Given the description of an element on the screen output the (x, y) to click on. 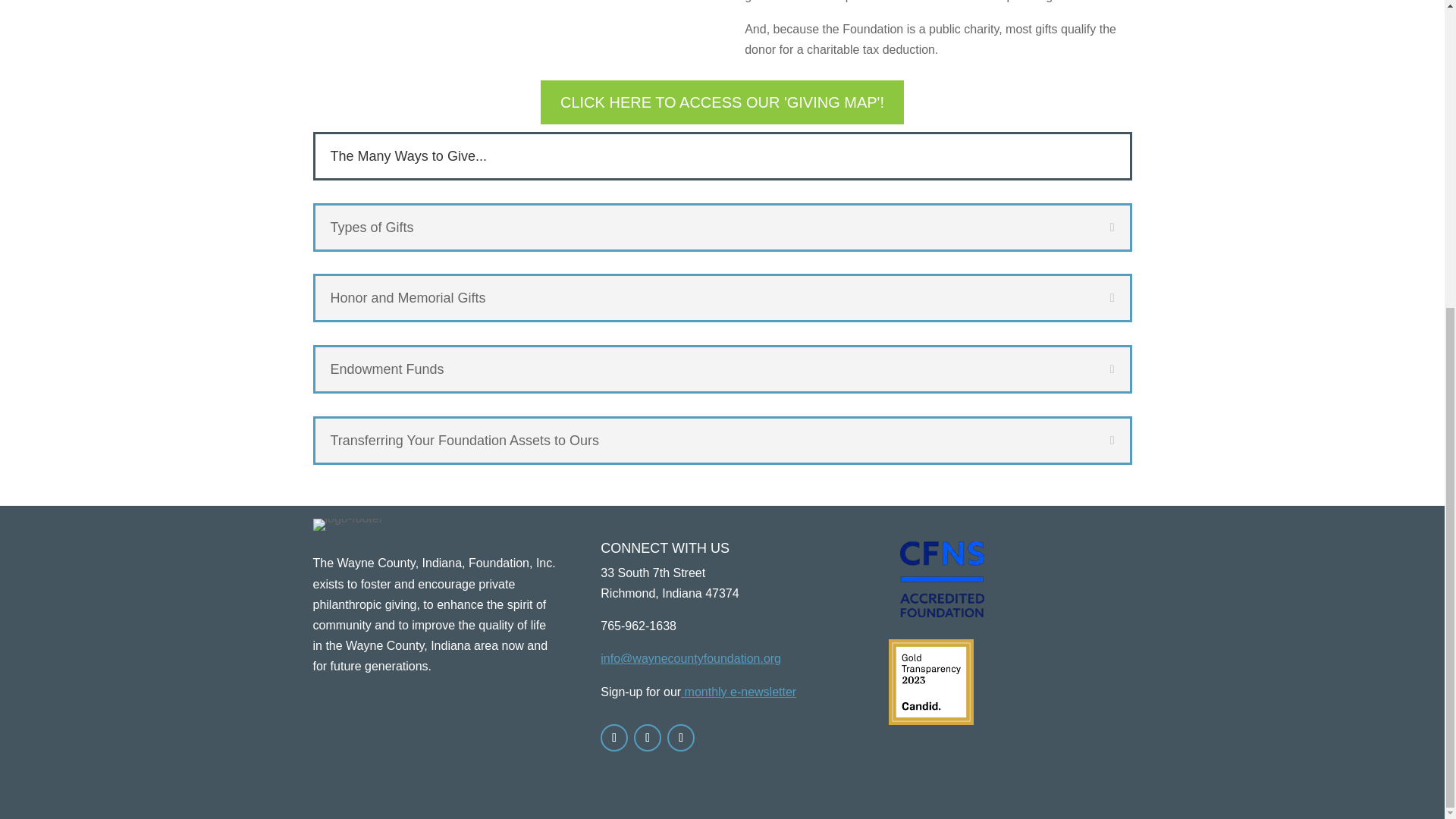
Types of Funds at the Wayne County Foundation (505, 2)
Follow on X (647, 737)
profile-gold2023-seal (931, 681)
Follow on Instagram (680, 737)
Follow on Facebook (613, 737)
